Given the description of an element on the screen output the (x, y) to click on. 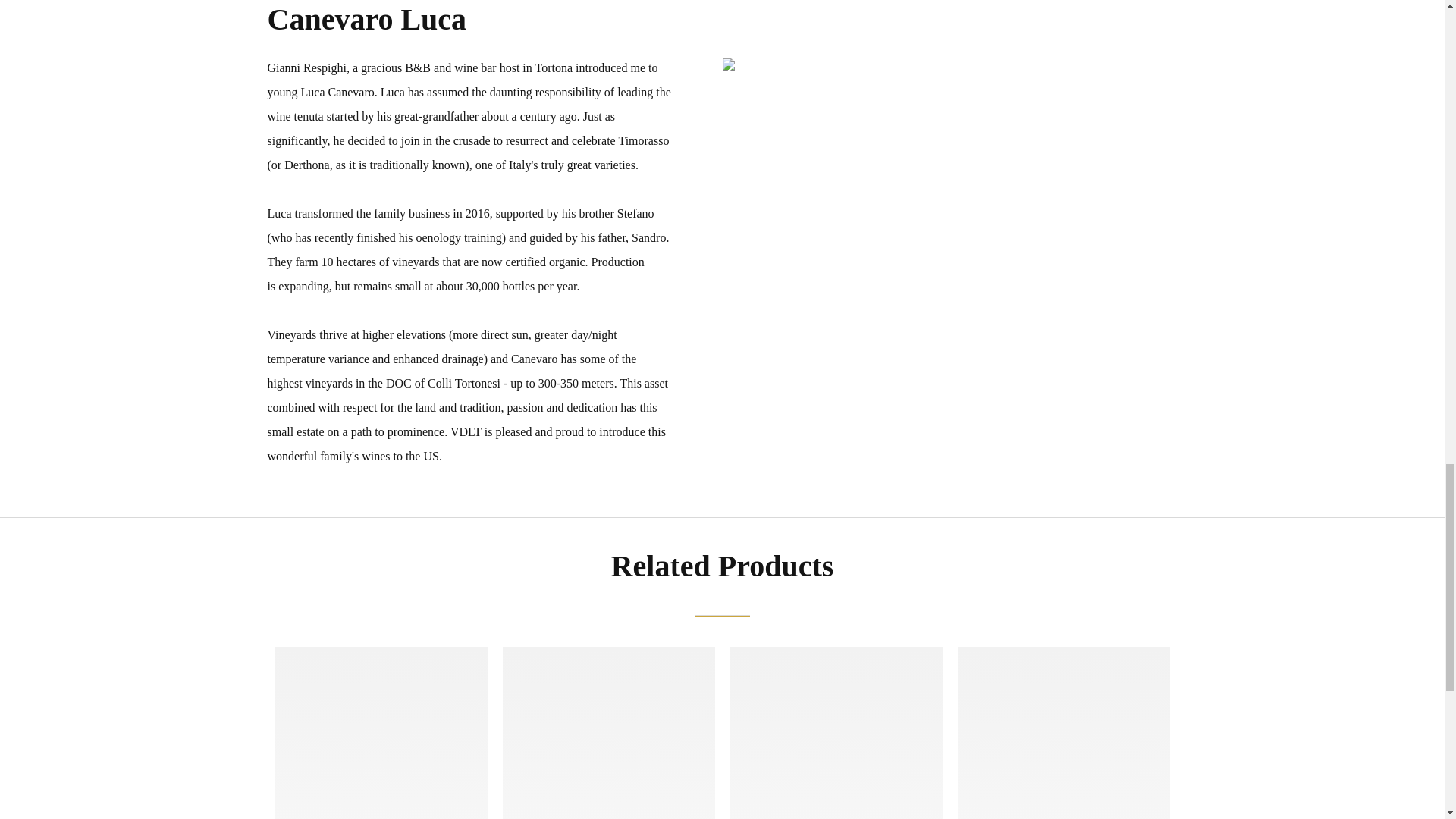
Canevaro Luca Colli Tortonesi Barbera Fontana 2021 (380, 798)
Canevaro Luca Colli Tortonesi Barbera Monleale 2018 (835, 798)
Canevaro Luca Derthona Ca' degli Olmi Timorasso 2021 (1062, 798)
